Given the description of an element on the screen output the (x, y) to click on. 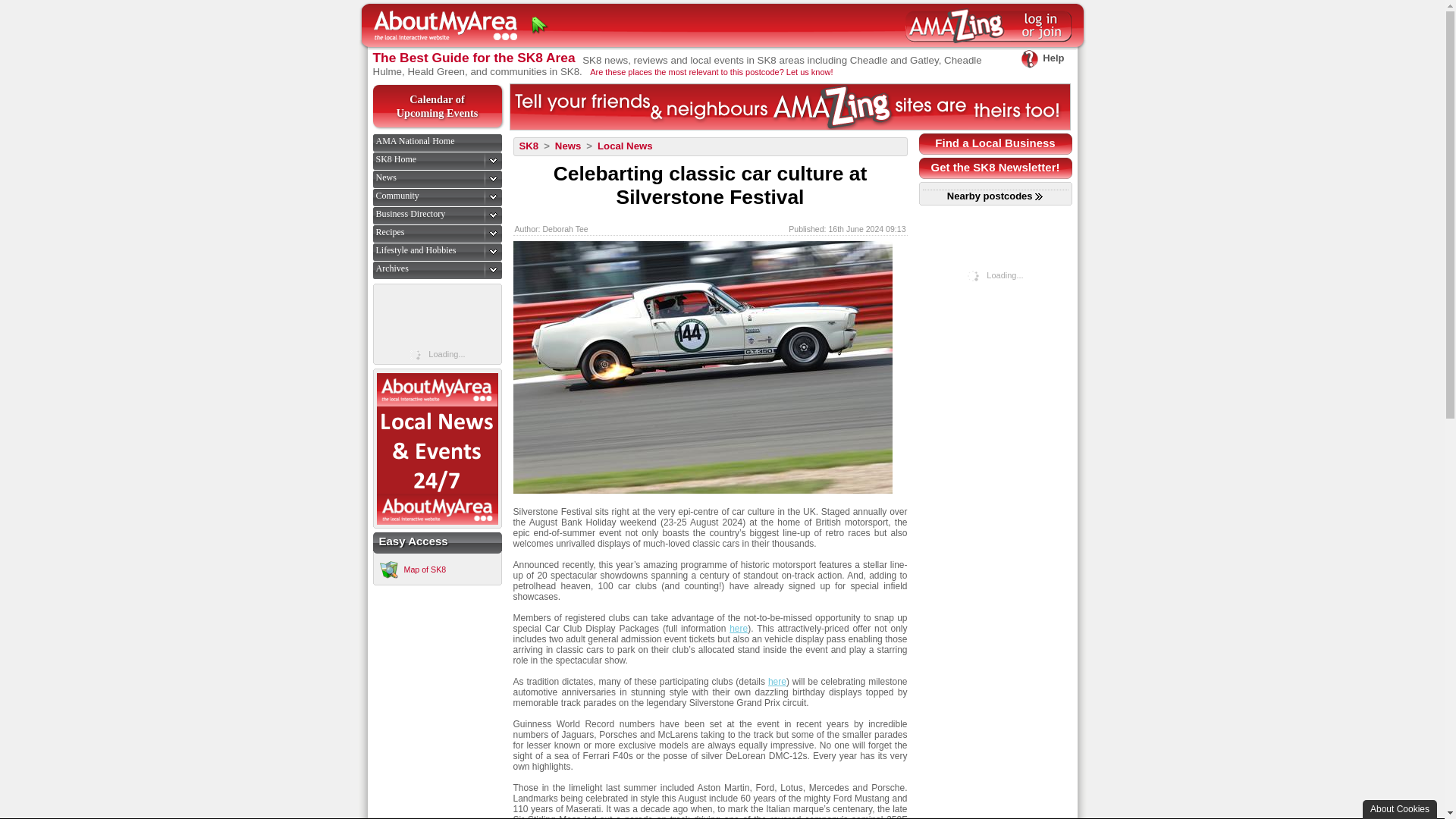
Recipes (389, 231)
Archives (392, 267)
Help (437, 106)
SK8 Home (1042, 57)
Business Directory (395, 158)
News (410, 213)
Lifestyle and Hobbies (385, 176)
Community (416, 249)
ama (397, 195)
Bookmark this page (788, 106)
AMA National Home (539, 25)
